Given the description of an element on the screen output the (x, y) to click on. 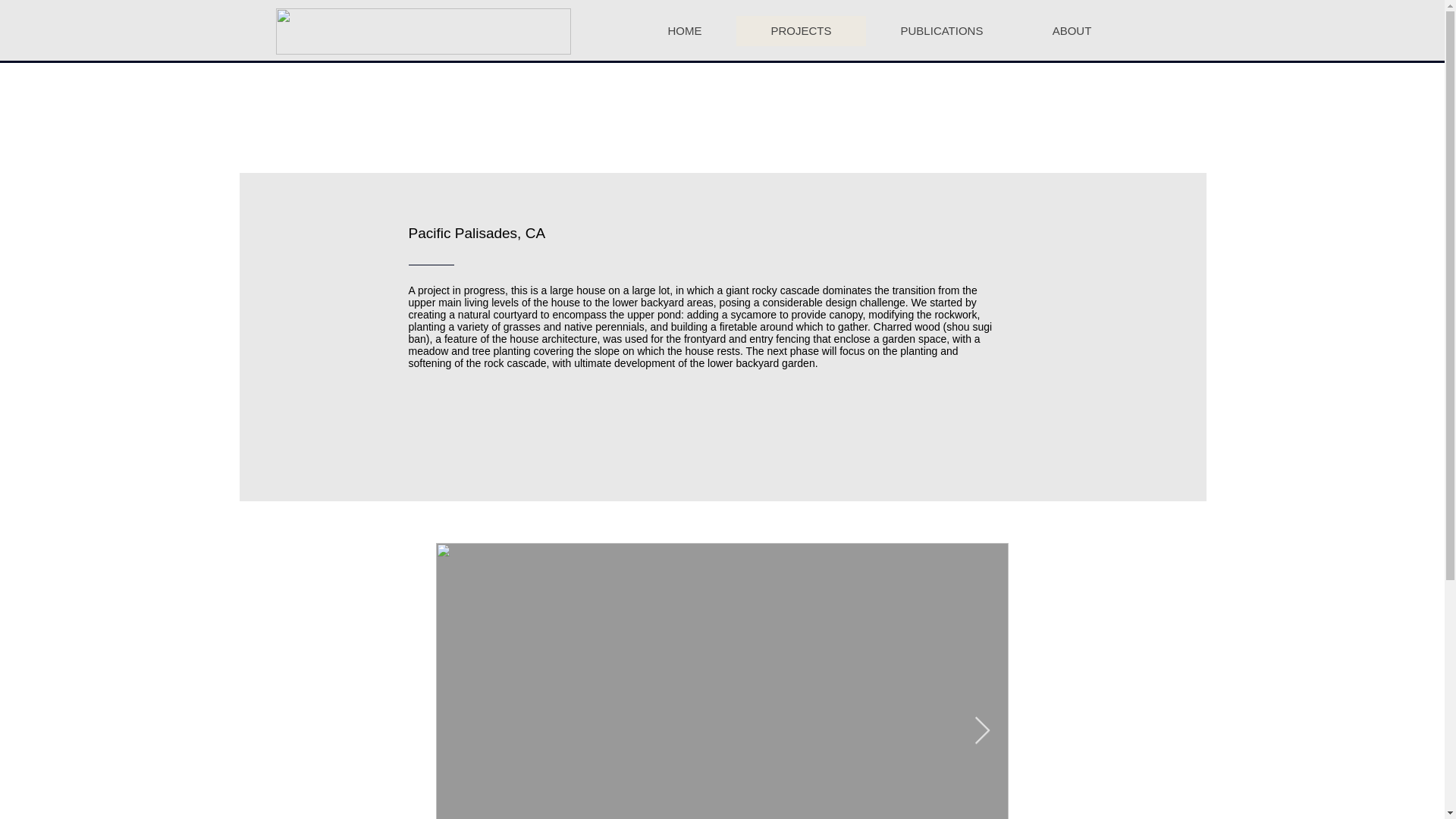
PUBLICATIONS (941, 30)
PROJECTS (799, 30)
HOME (684, 30)
ABOUT (1071, 30)
